Given the description of an element on the screen output the (x, y) to click on. 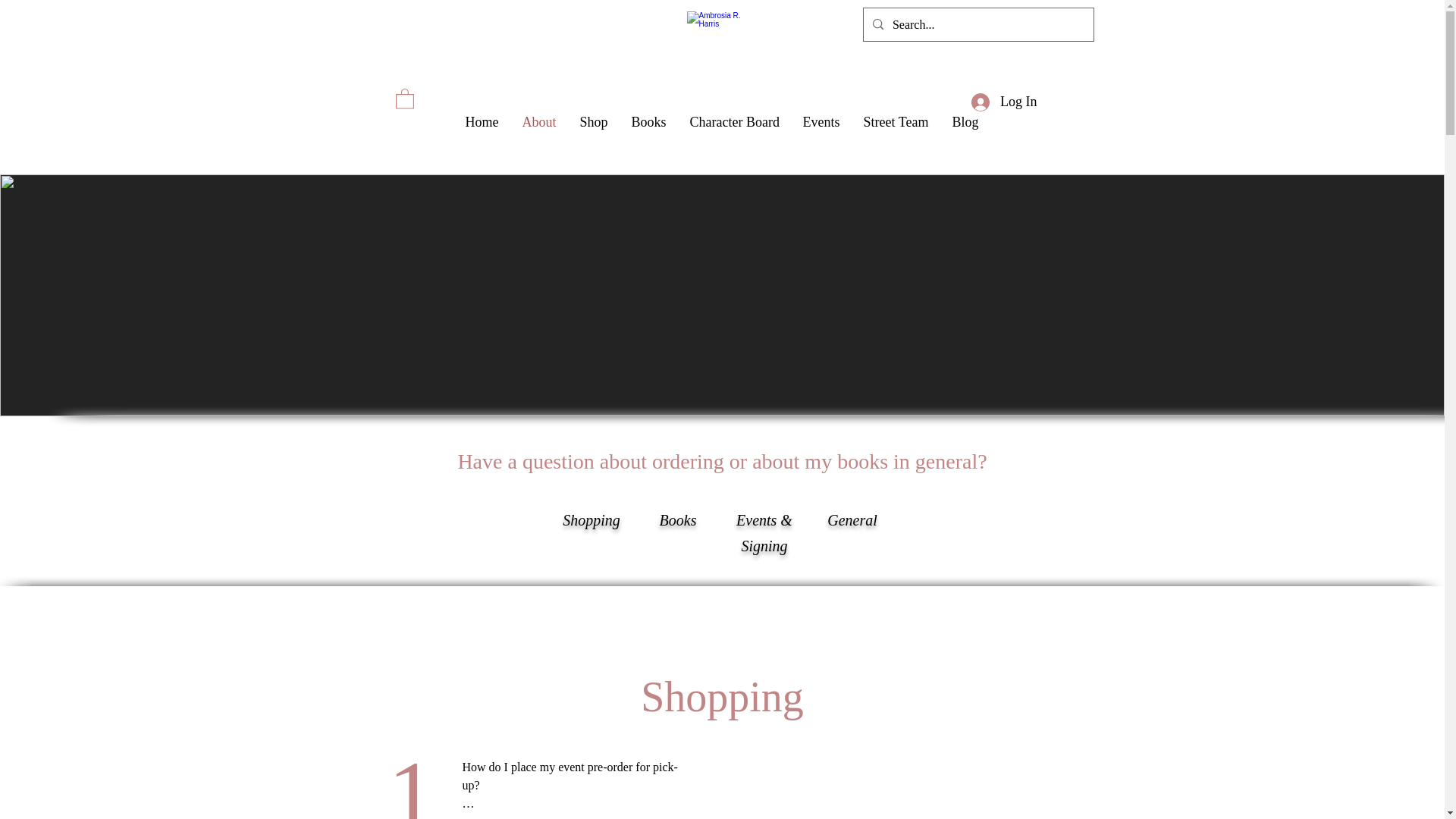
Blog (965, 122)
Character Board (734, 122)
Home (480, 122)
Log In (1004, 101)
Books (678, 519)
Street Team (895, 122)
Shopping (591, 519)
Events (820, 122)
General (852, 519)
Books (648, 122)
